Given the description of an element on the screen output the (x, y) to click on. 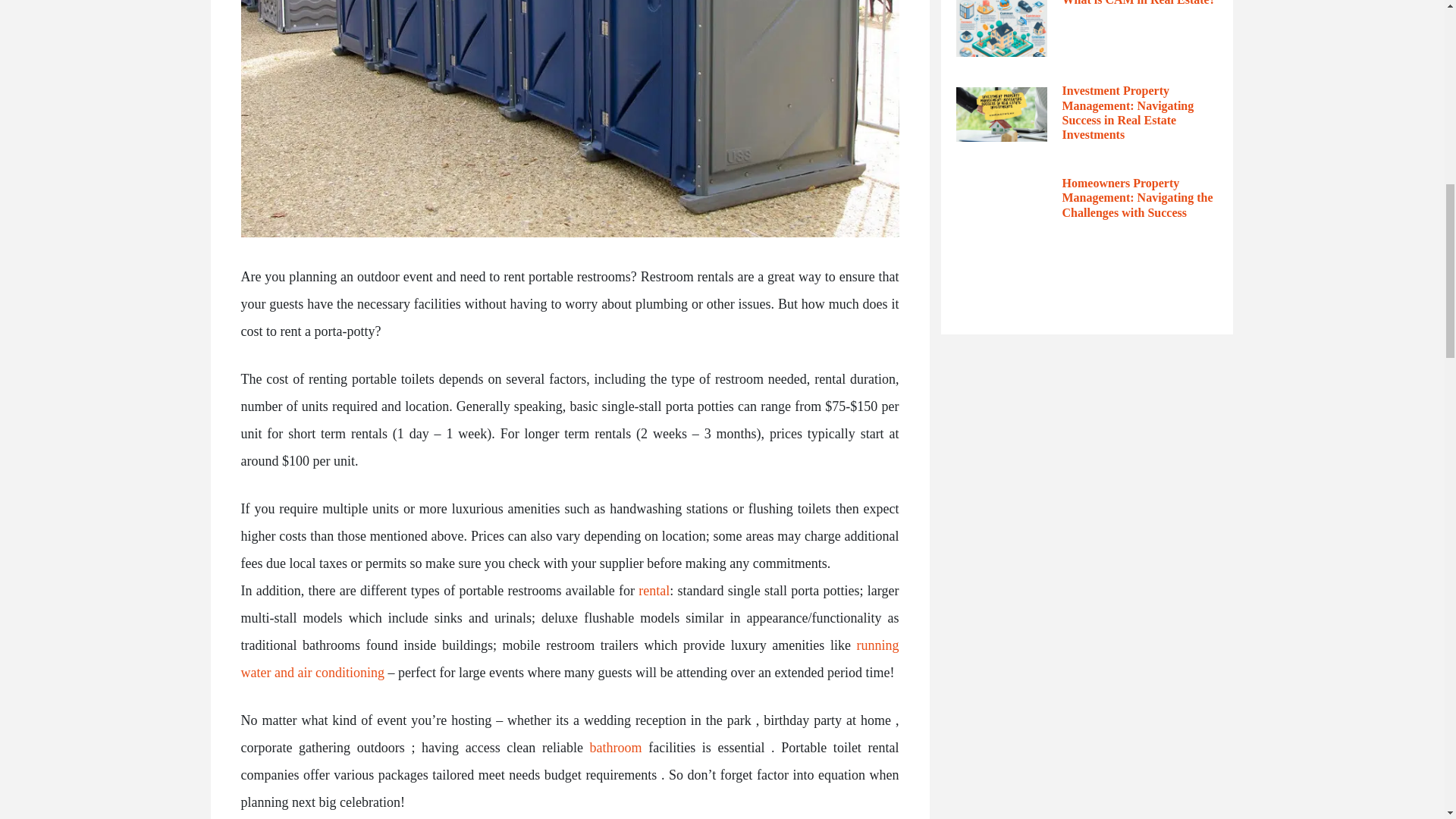
running water and air conditioning (570, 659)
rental (654, 590)
bathroom (615, 747)
What is CAM in Real Estate? (1137, 3)
